Given the description of an element on the screen output the (x, y) to click on. 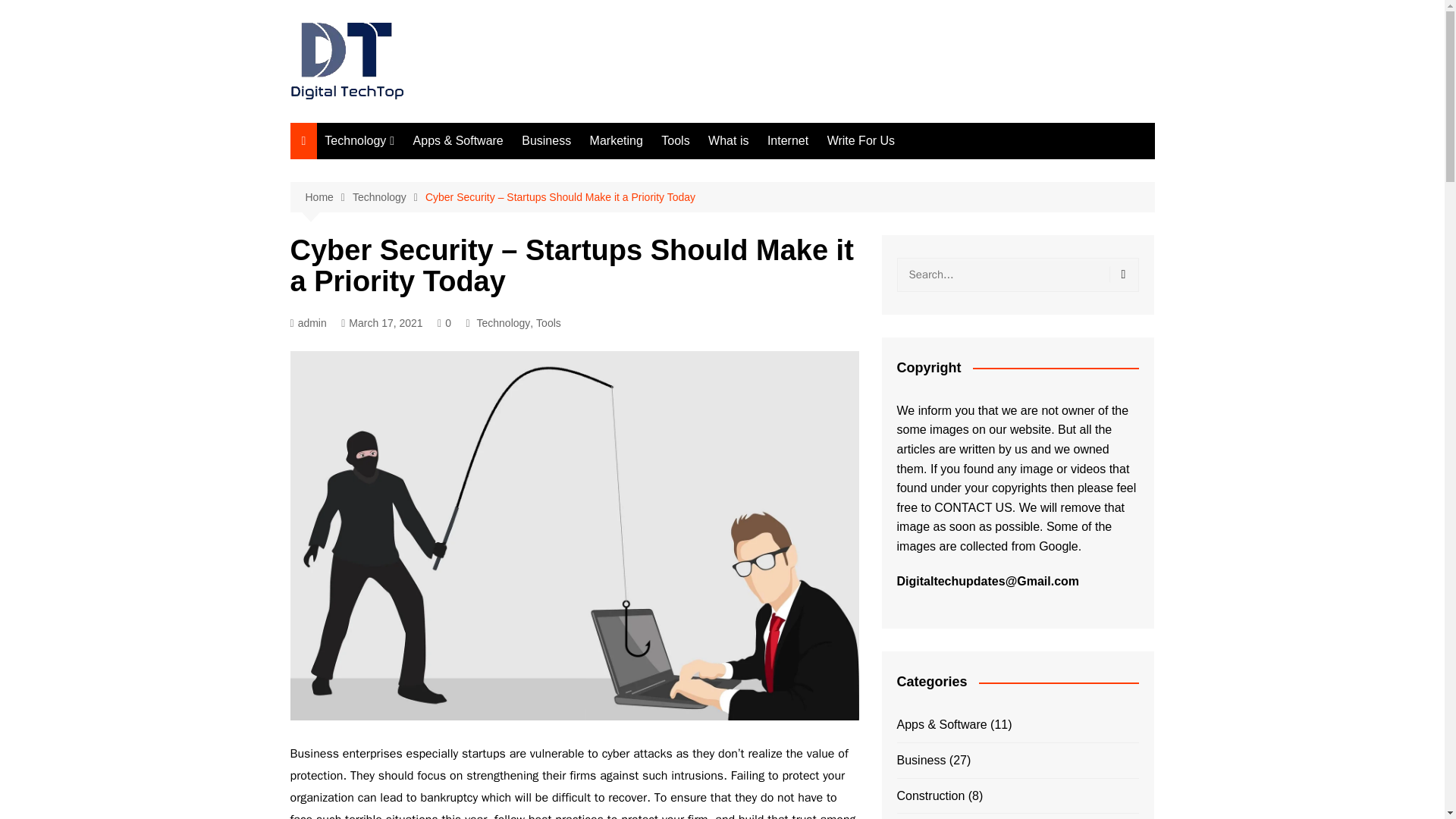
Home (328, 197)
admin (307, 323)
Business (545, 140)
Tools (547, 322)
Marketing (616, 140)
What is (727, 140)
Tools (675, 140)
Technology (502, 322)
March 17, 2021 (381, 323)
Technology (388, 197)
Cloud (400, 171)
Technology (359, 140)
Internet (787, 140)
Write For Us (860, 140)
